Given the description of an element on the screen output the (x, y) to click on. 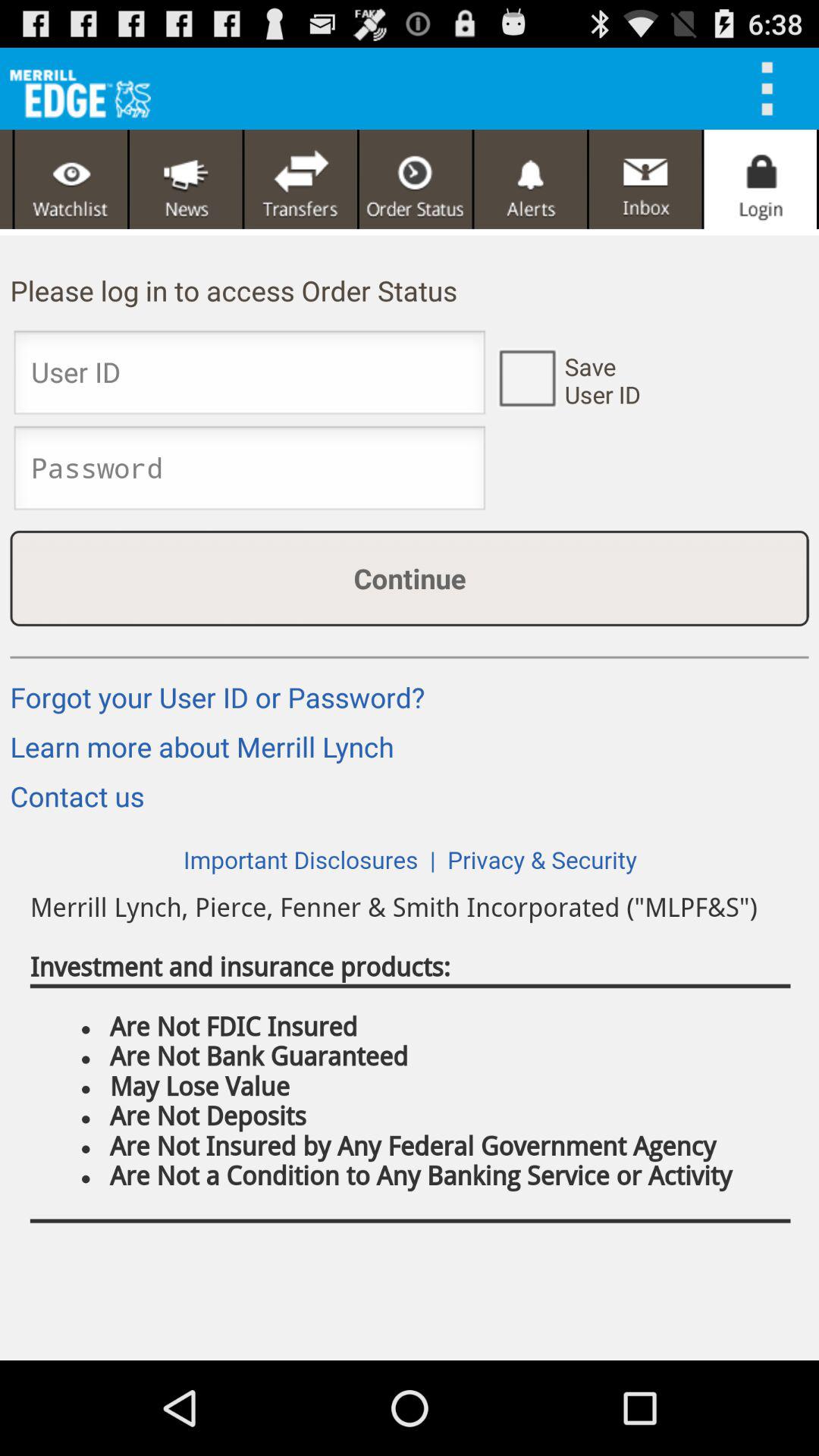
transfer icon (300, 179)
